Given the description of an element on the screen output the (x, y) to click on. 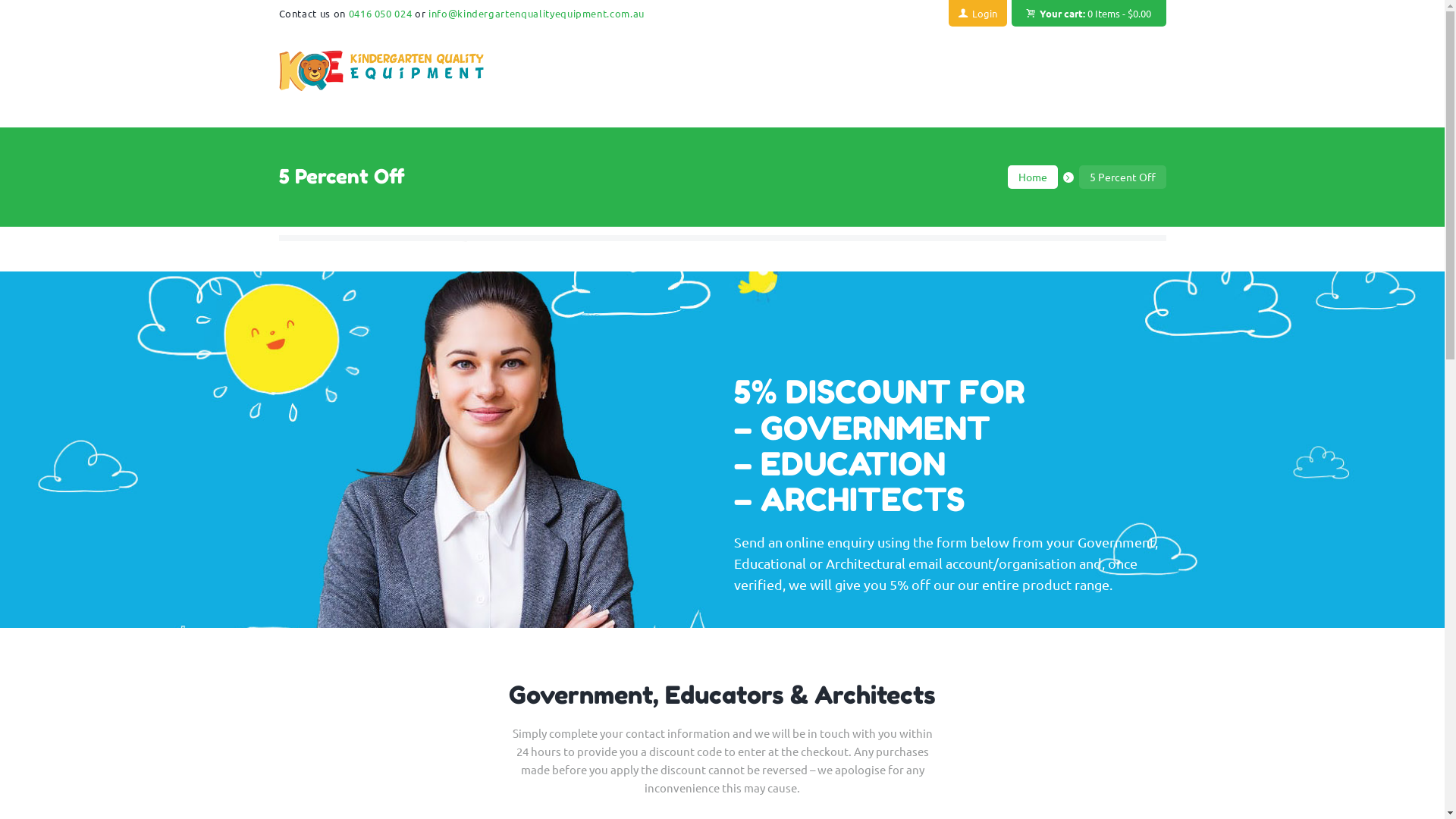
info@kindergartenqualityequipment.com.au Element type: text (536, 12)
REGISTER BELOW Element type: text (382, 260)
Login Element type: text (977, 13)
Your cart: 0 Items - $0.00 Element type: text (1088, 13)
Home Element type: text (1032, 176)
0416 050 024 Element type: text (380, 12)
